Given the description of an element on the screen output the (x, y) to click on. 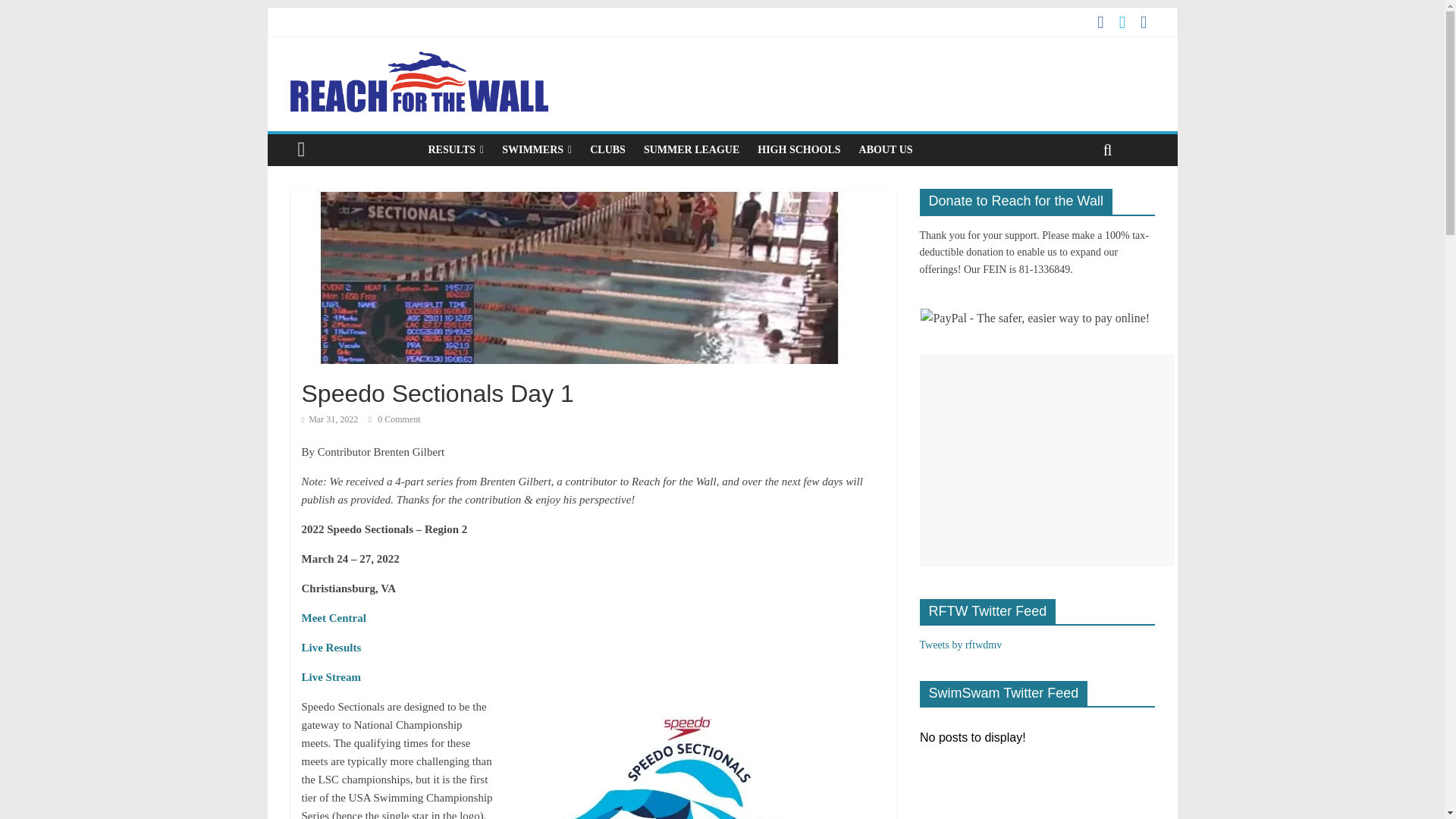
CLUBS (607, 150)
ABOUT US (885, 150)
8:15 am (329, 419)
0 Comment (394, 419)
Live Results (331, 647)
Tweets by rftwdmv (959, 644)
Mar 31, 2022 (329, 419)
RESULTS (456, 150)
Meet Central (333, 617)
HIGH SCHOOLS (798, 150)
